Given the description of an element on the screen output the (x, y) to click on. 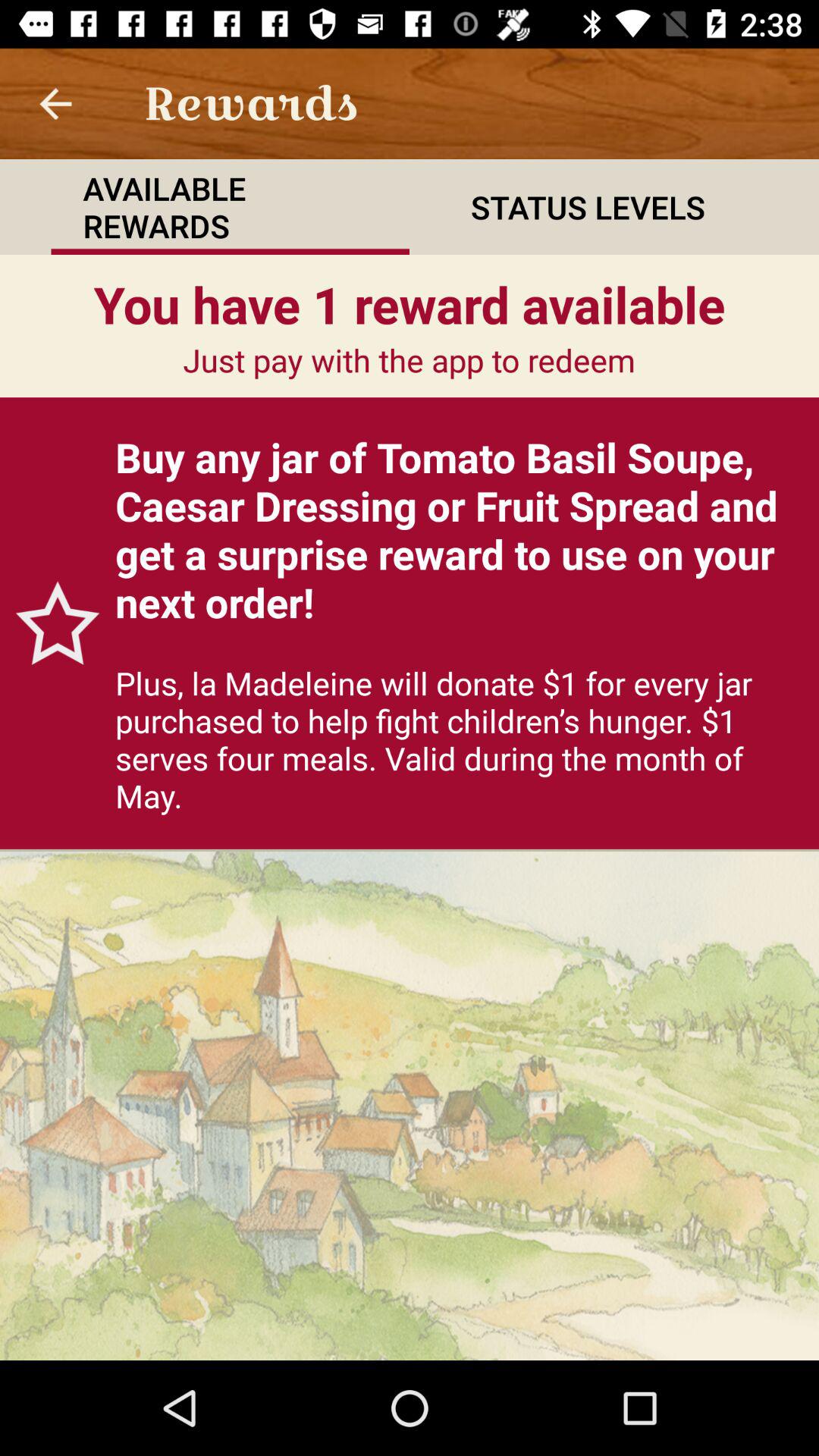
turn off the icon on the left (49, 622)
